Given the description of an element on the screen output the (x, y) to click on. 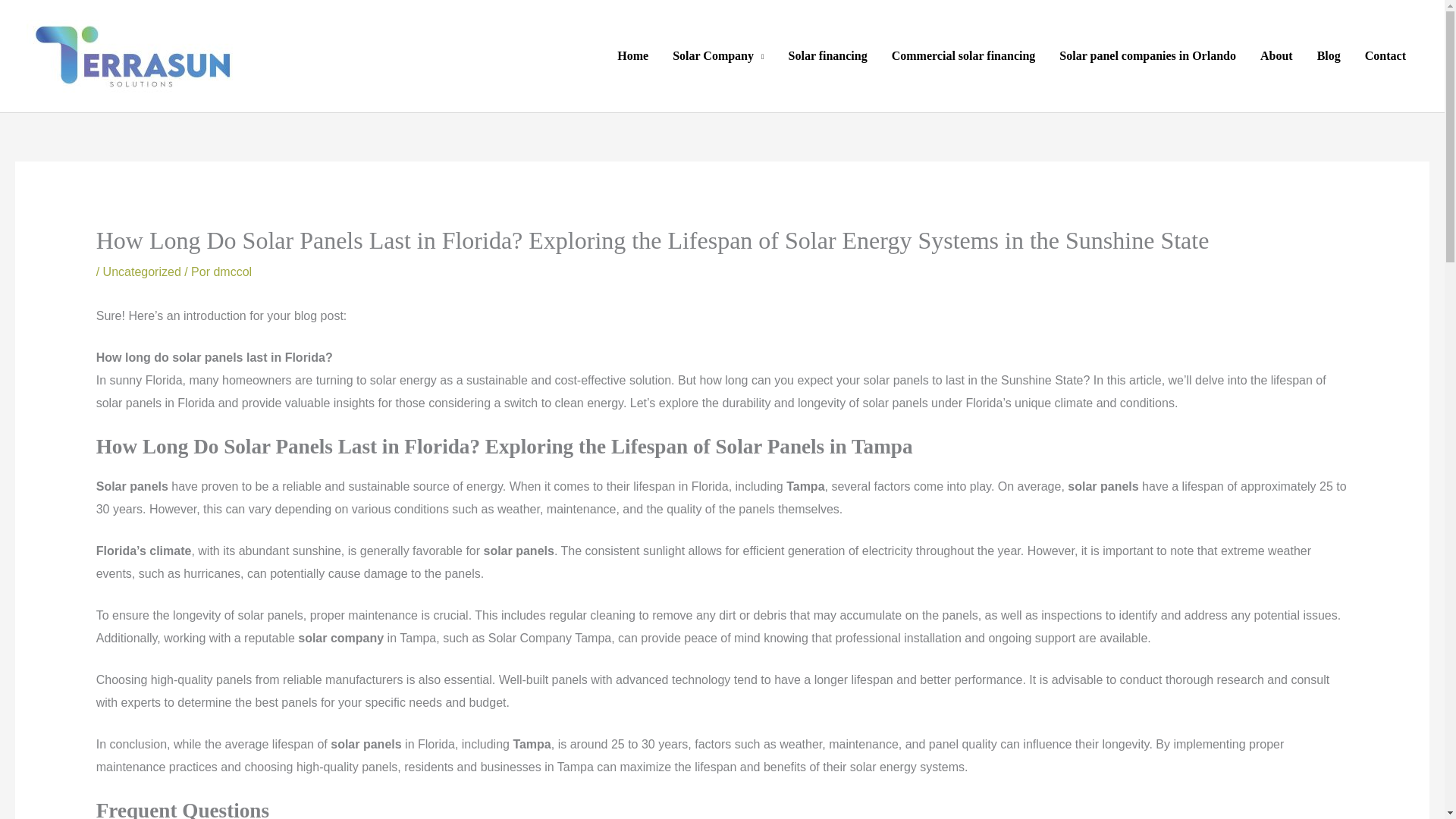
dmccol (231, 271)
Blog (1328, 55)
Ver todas las entradas de dmccol (231, 271)
About (1275, 55)
Uncategorized (141, 271)
Solar Company (718, 55)
Contact (1385, 55)
Commercial solar financing (963, 55)
Solar panel companies in Orlando (1146, 55)
Solar financing (827, 55)
